Given the description of an element on the screen output the (x, y) to click on. 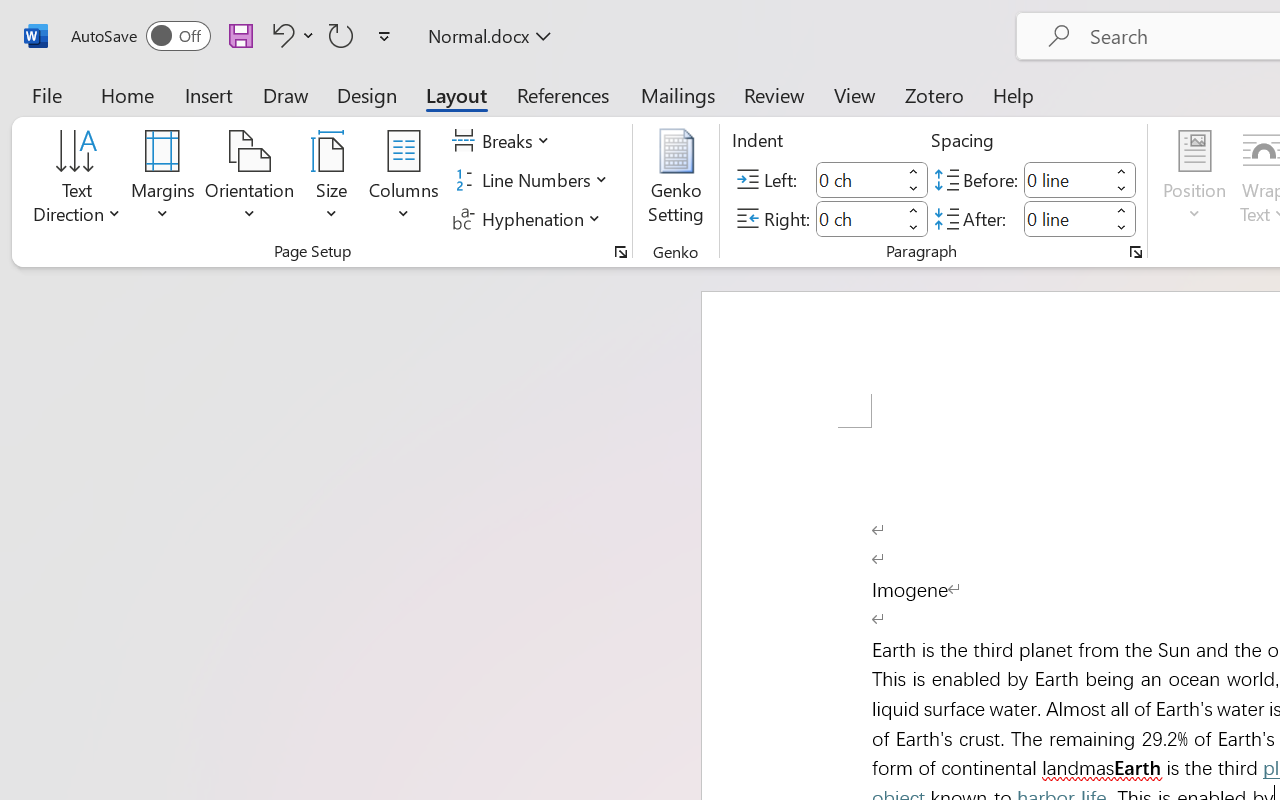
Orientation (250, 179)
Columns (404, 179)
Undo Paste Destination Formatting (280, 35)
Size (331, 179)
Text Direction (77, 179)
